Given the description of an element on the screen output the (x, y) to click on. 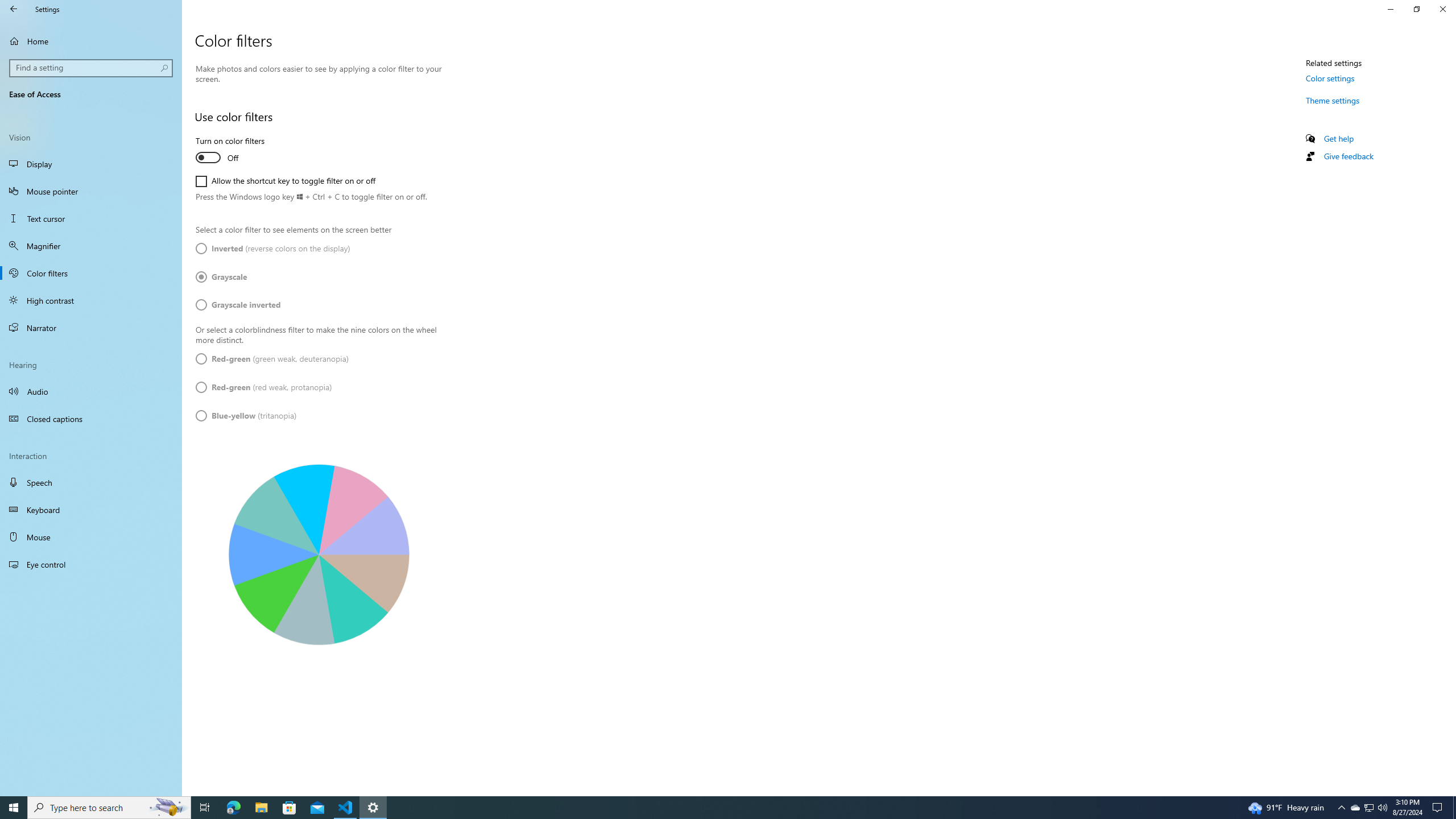
Magnifier (91, 245)
High contrast (91, 299)
Theme settings (1332, 100)
Microsoft Store (289, 807)
Close Settings (1442, 9)
Color filters (1368, 807)
Text cursor (91, 272)
Keyboard (91, 217)
Speech (91, 509)
Running applications (91, 482)
Minimize Settings (717, 807)
Inverted (reverse colors on the display) (1390, 9)
Eye control (272, 248)
Turn on color filters (91, 564)
